Given the description of an element on the screen output the (x, y) to click on. 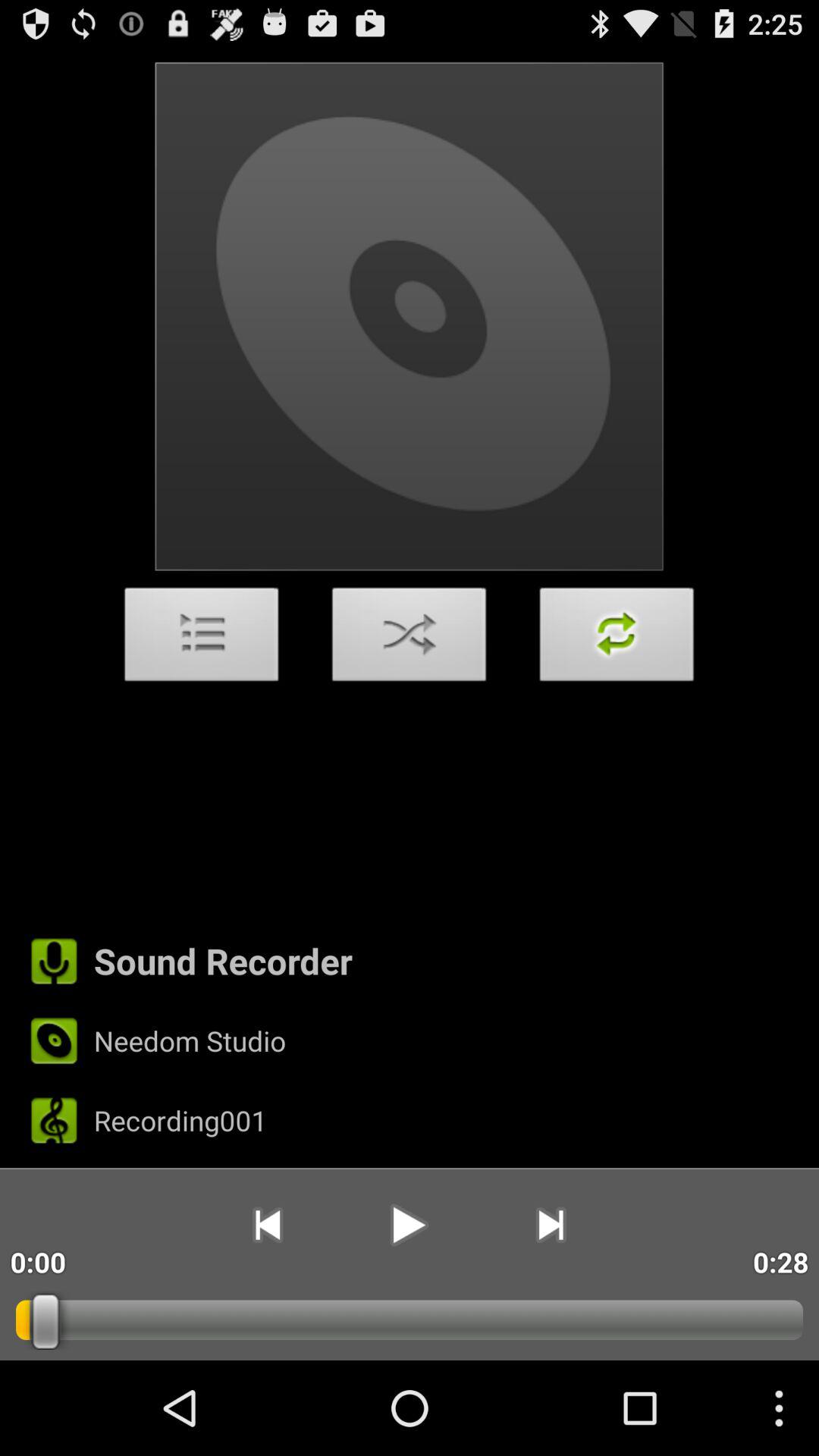
turn on the app above the sound recorder item (616, 638)
